Given the description of an element on the screen output the (x, y) to click on. 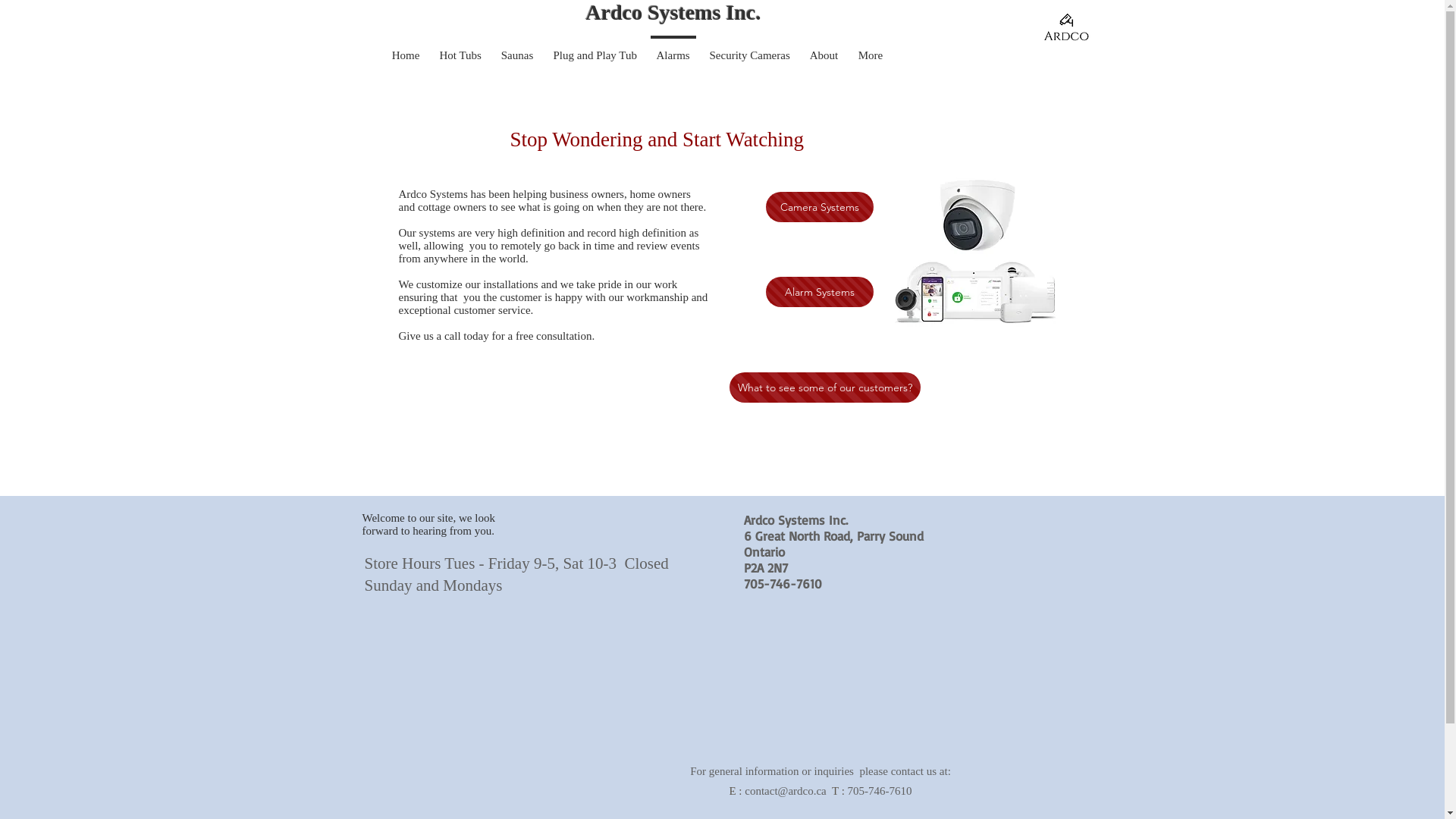
Home Element type: text (405, 48)
Alarms Element type: text (672, 48)
Alarm Systems Element type: text (819, 291)
Plug and Play Tub Element type: text (594, 48)
Security Cameras Element type: text (749, 48)
Hot Tubs Element type: text (459, 48)
Saunas Element type: text (517, 48)
What to see some of our customers? Element type: text (824, 387)
contact@ardco.ca Element type: text (785, 790)
About Element type: text (823, 48)
Camera Systems Element type: text (819, 206)
